Given the description of an element on the screen output the (x, y) to click on. 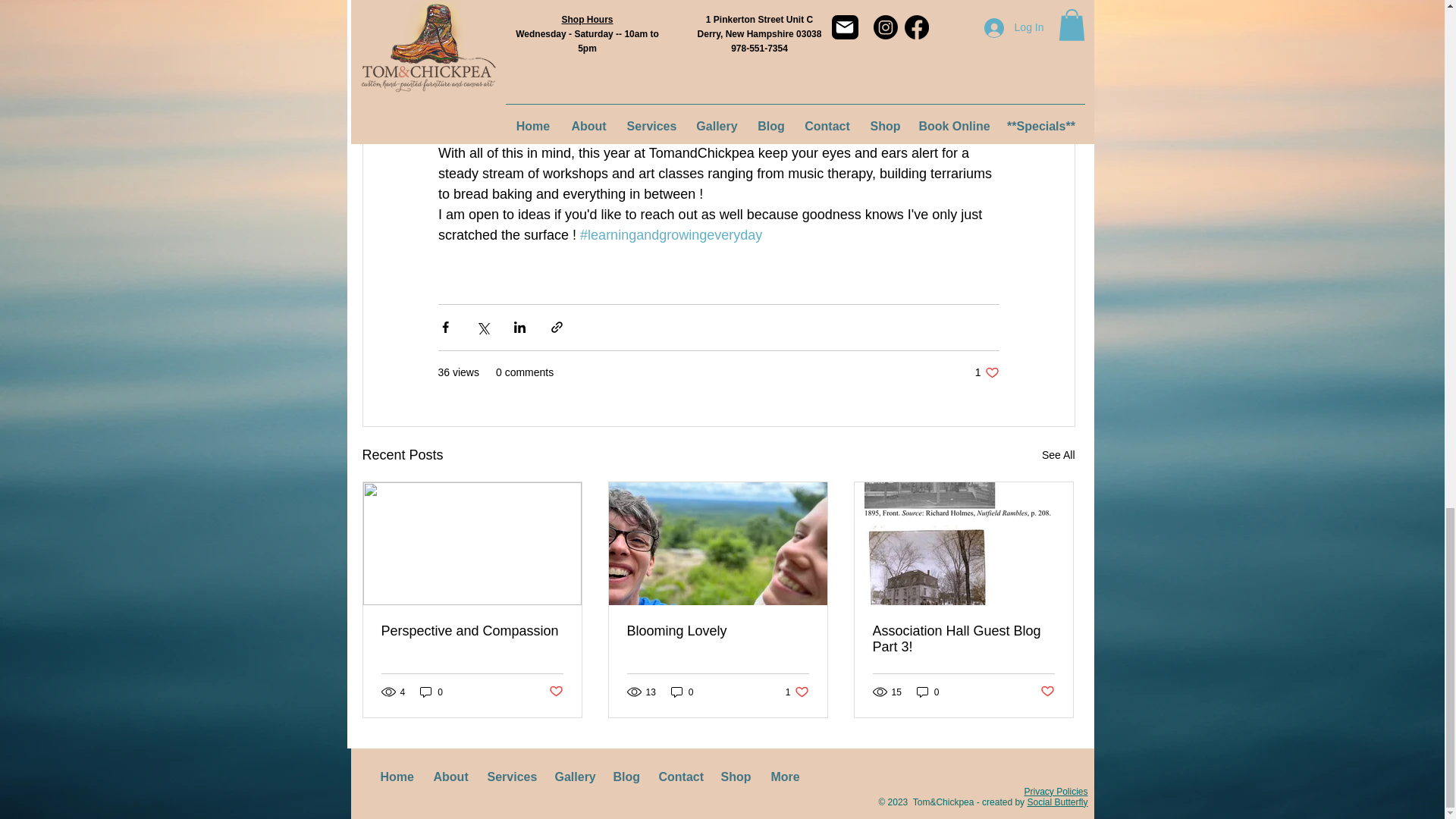
Perspective and Compassion (471, 631)
See All (986, 372)
0 (1058, 455)
0 (431, 691)
Blooming Lovely (682, 691)
Post not marked as liked (717, 631)
